Given the description of an element on the screen output the (x, y) to click on. 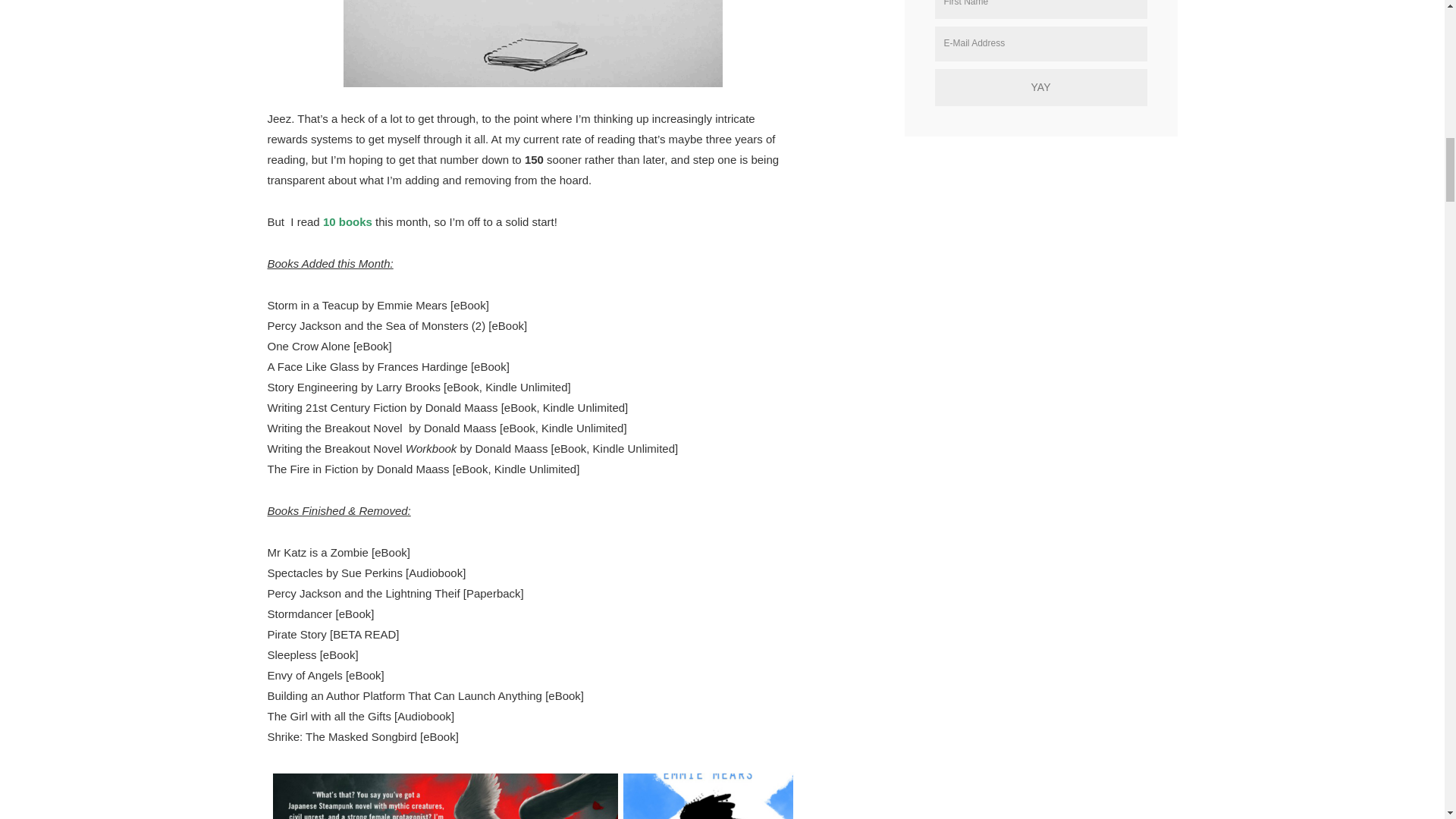
YAY (1040, 87)
